Given the description of an element on the screen output the (x, y) to click on. 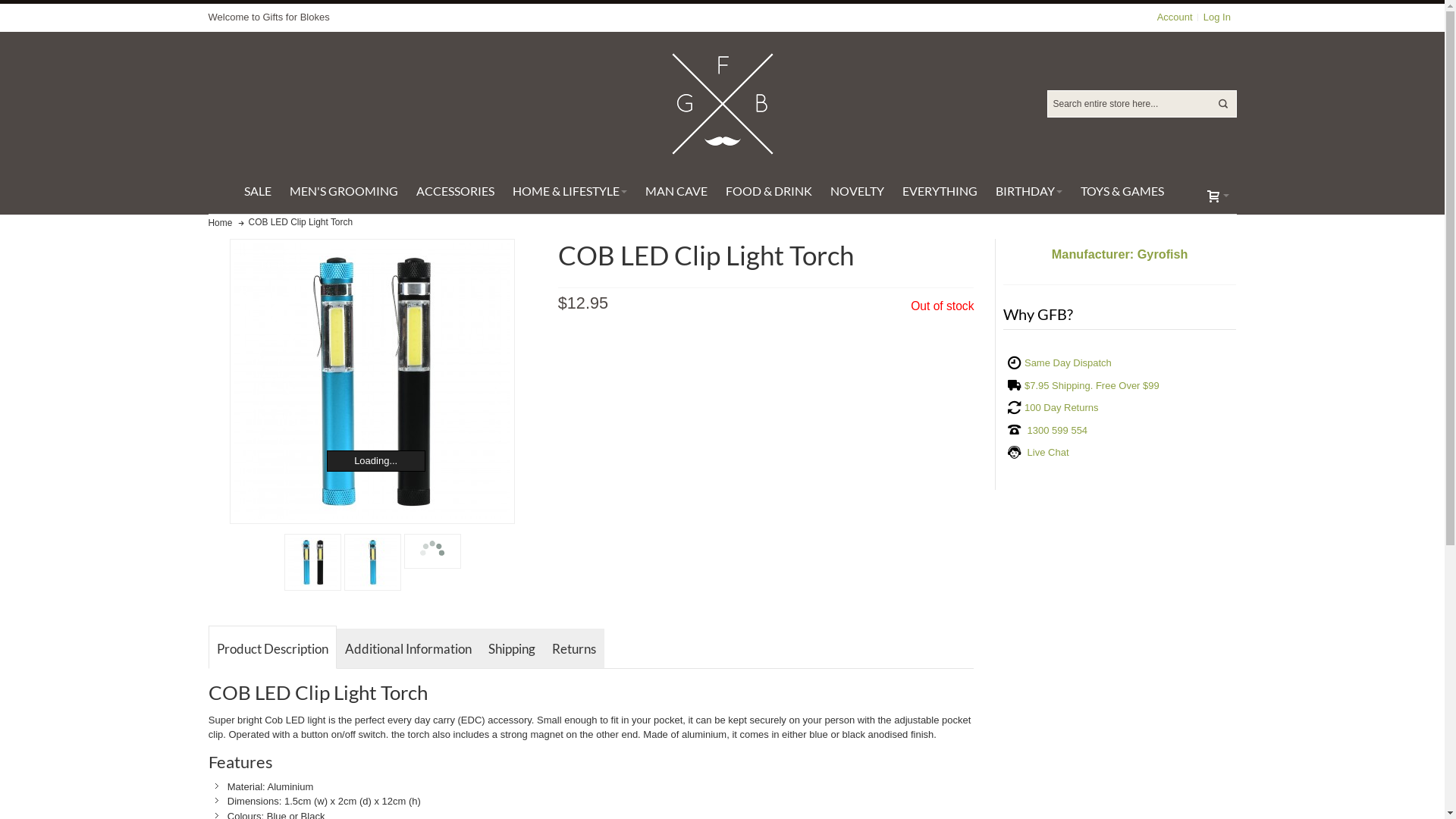
FOOD & DRINK Element type: text (767, 190)
ACCESSORIES Element type: text (454, 190)
Product Description Element type: text (272, 646)
Wireless Bluetooth Waterproof Shower Speaker Element type: hover (372, 380)
Search Element type: hover (1223, 103)
Manufacturer: Gyrofish Element type: text (1119, 254)
Shipping Element type: text (511, 647)
 Live Chat Element type: text (1046, 452)
Account Element type: text (1174, 17)
MEN'S GROOMING Element type: text (343, 190)
COB LED Clip Light Torch Element type: hover (372, 561)
Additional Information Element type: text (408, 647)
Log In Element type: text (1216, 17)
NOVELTY Element type: text (856, 190)
Zoom Element type: text (372, 381)
HOME & LIFESTYLE  Element type: text (569, 190)
BIRTHDAY  Element type: text (1027, 190)
100 Day Returns Element type: text (1061, 407)
Same Day Dispatch Element type: text (1067, 362)
EVERYTHING Element type: text (939, 190)
TOYS & GAMES Element type: text (1121, 190)
COB LED Clip Light Torch Element type: hover (432, 550)
COB LED Clip Light Torch Element type: hover (312, 561)
  Element type: text (1217, 194)
Returns Element type: text (573, 647)
Gifts for Men Element type: hover (722, 103)
$7.95 Shipping. Free Over $99 Element type: text (1091, 385)
Home Element type: text (219, 222)
MAN CAVE Element type: text (675, 190)
SALE Element type: text (257, 190)
 1300 599 554  Element type: text (1057, 430)
